Given the description of an element on the screen output the (x, y) to click on. 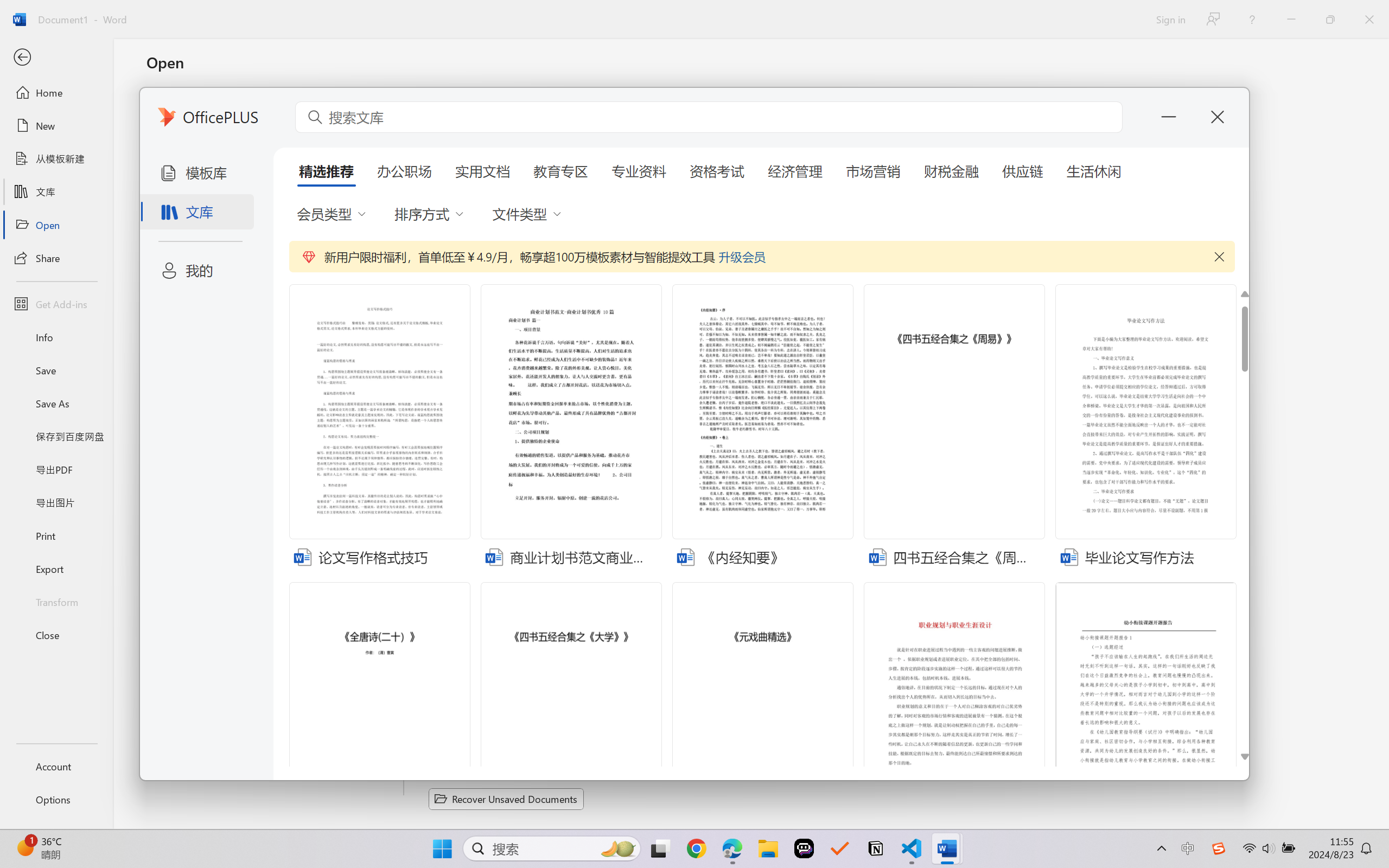
Recover Unsaved Documents (506, 798)
